Given the description of an element on the screen output the (x, y) to click on. 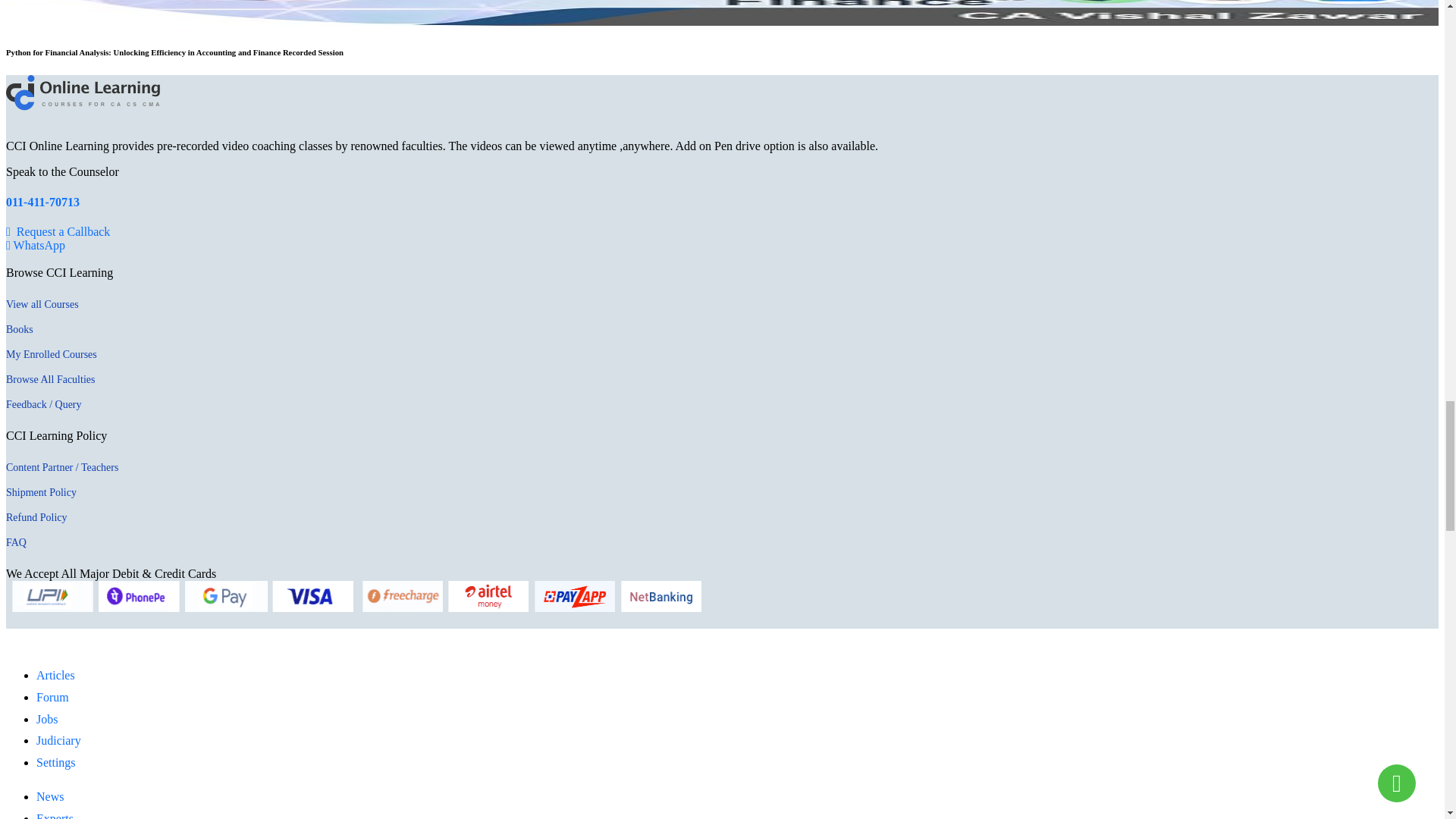
Faculties list (49, 378)
buy books (19, 328)
online coaching (83, 106)
Provide feedback (43, 404)
CCI Learning (41, 304)
Content Partner  (61, 467)
Whatsapp (35, 245)
Request a Callback (57, 231)
call us now (42, 201)
order history (51, 354)
